Given the description of an element on the screen output the (x, y) to click on. 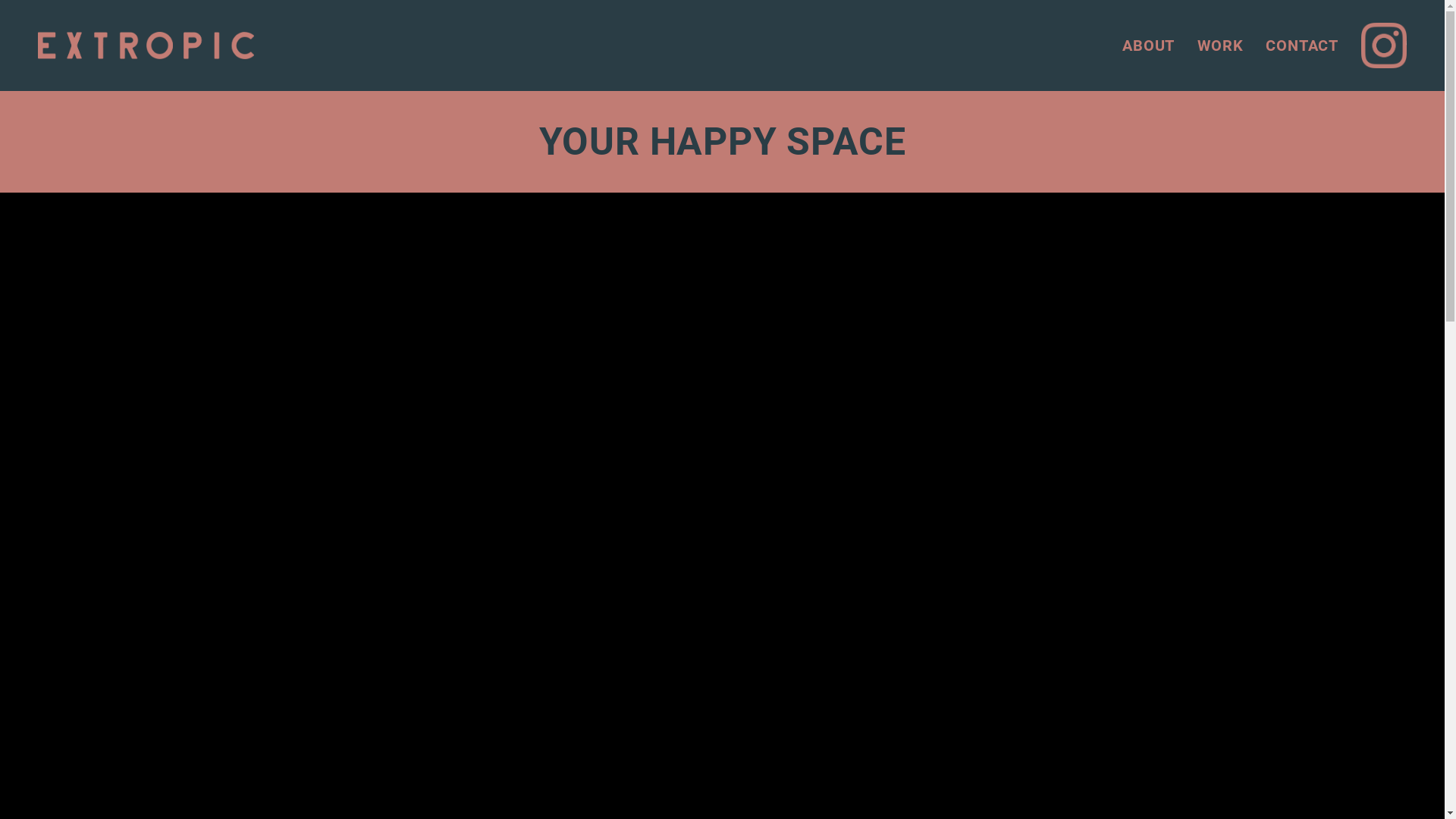
ABOUT Element type: text (1148, 45)
CONTACT Element type: text (1301, 45)
WORK Element type: text (1219, 45)
